Given the description of an element on the screen output the (x, y) to click on. 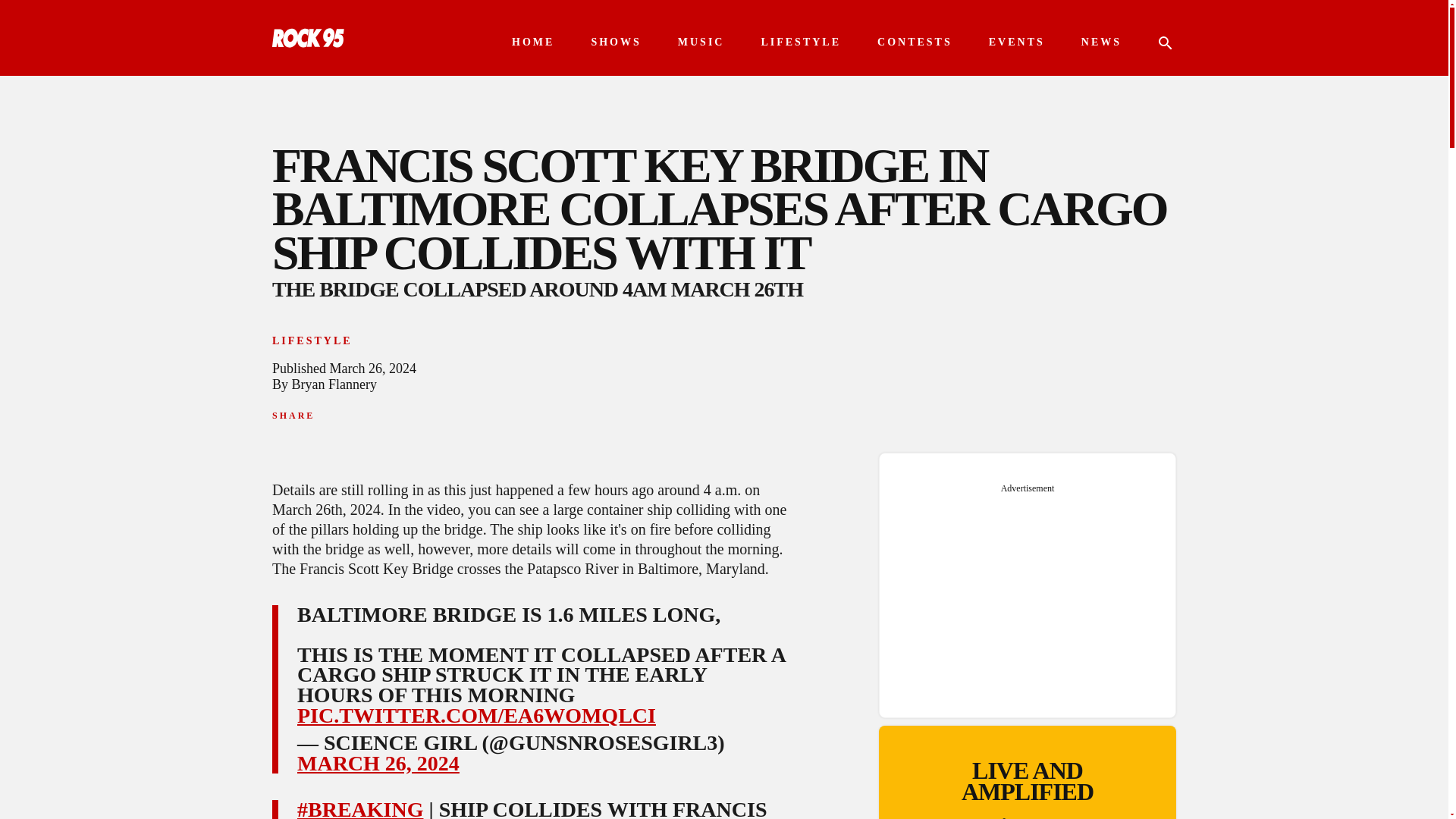
NEWS (1101, 42)
HOME (533, 42)
Search (29, 11)
CONTESTS (914, 42)
Bryan Flannery (334, 384)
LIFESTYLE (800, 42)
EVENTS (1016, 42)
SHARE (293, 415)
SHOWS (615, 42)
View all posts in Lifestyle (312, 340)
